Given the description of an element on the screen output the (x, y) to click on. 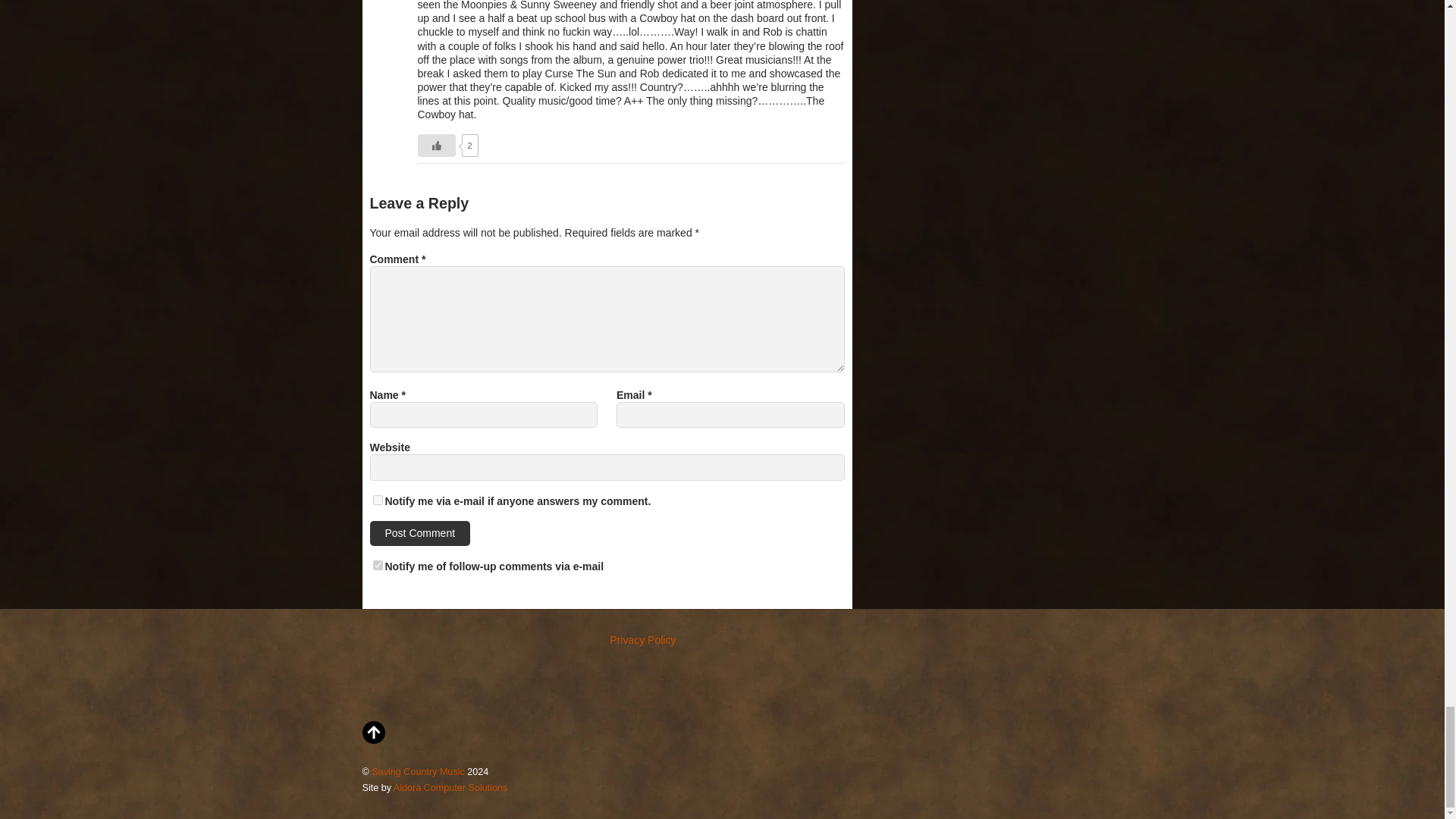
Post Comment (419, 532)
on (377, 500)
on (377, 565)
